Given the description of an element on the screen output the (x, y) to click on. 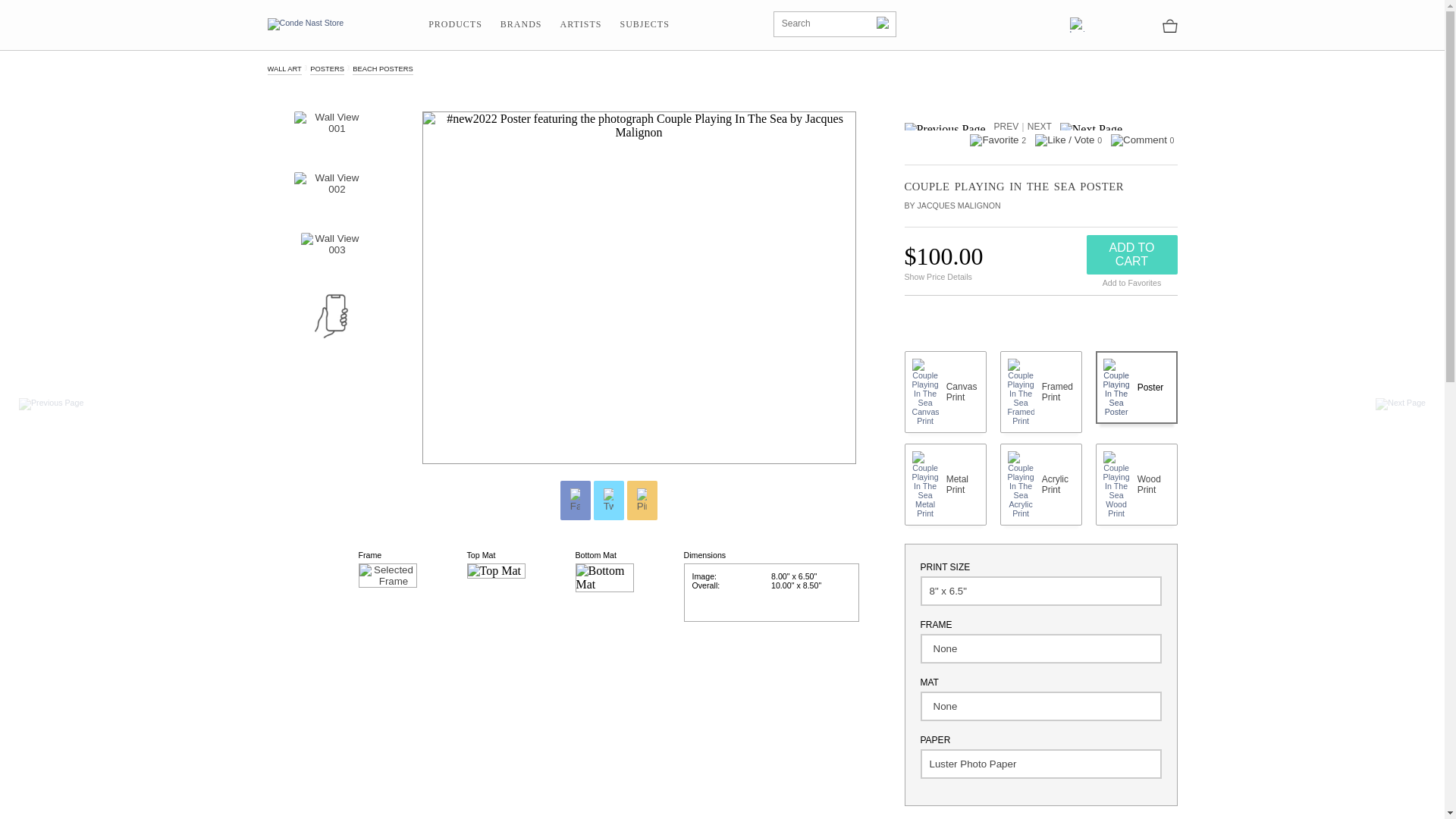
Conde Nast Store (304, 24)
Pinterest (642, 499)
Wall View 001 (330, 134)
Share Product on Twitter (607, 500)
Wall View 003 (330, 254)
Submit Search (880, 21)
SUBJECTS (644, 23)
Selected Frame (387, 575)
Facebook (575, 499)
Shopping Cart (1169, 24)
Twitter (609, 499)
Share Product on Facebook (574, 500)
Login (1077, 24)
Launch Mobile App (330, 315)
PRODUCTS (454, 23)
